Given the description of an element on the screen output the (x, y) to click on. 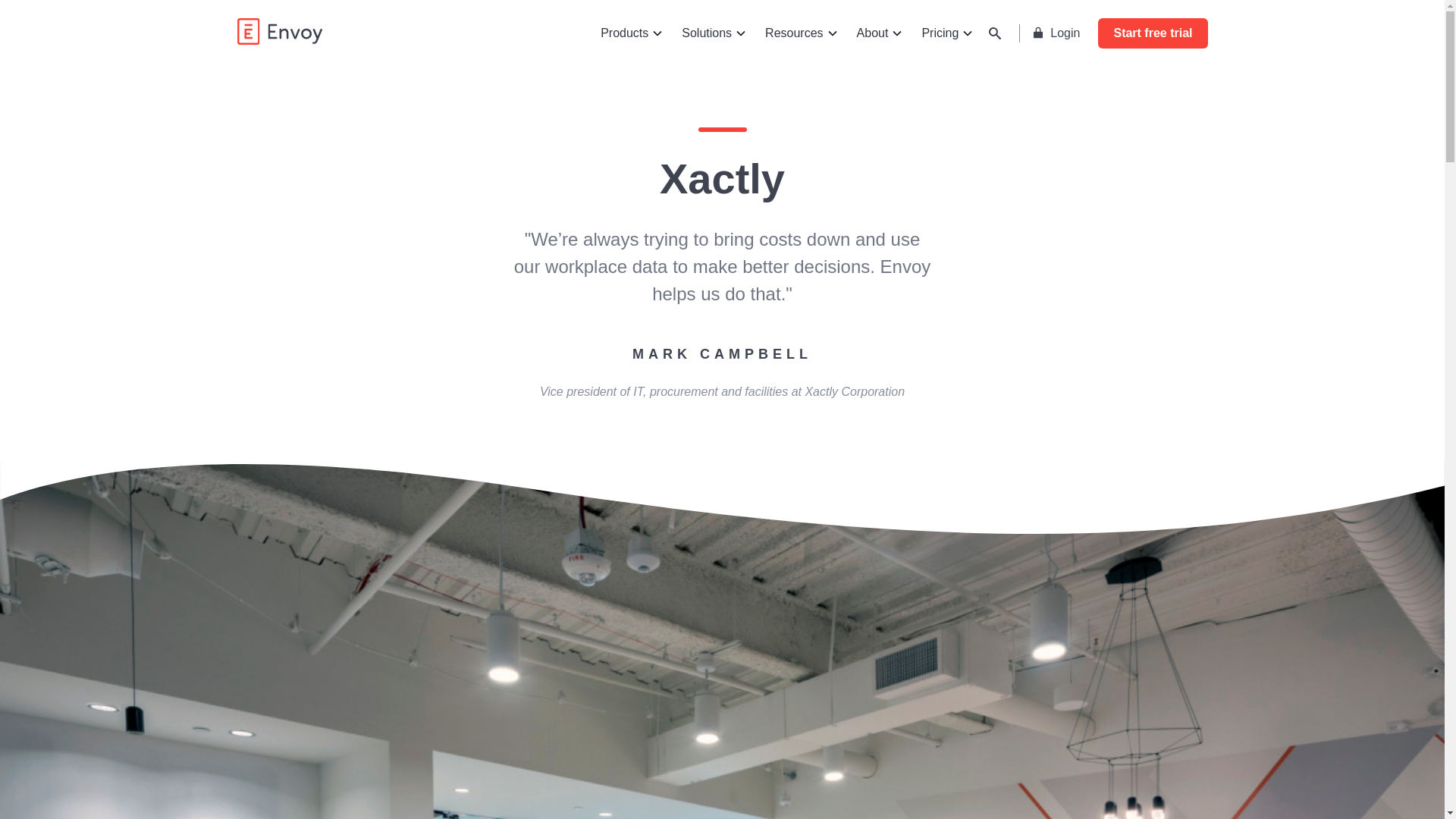
Go (869, 36)
Go (869, 36)
Go (869, 36)
